Given the description of an element on the screen output the (x, y) to click on. 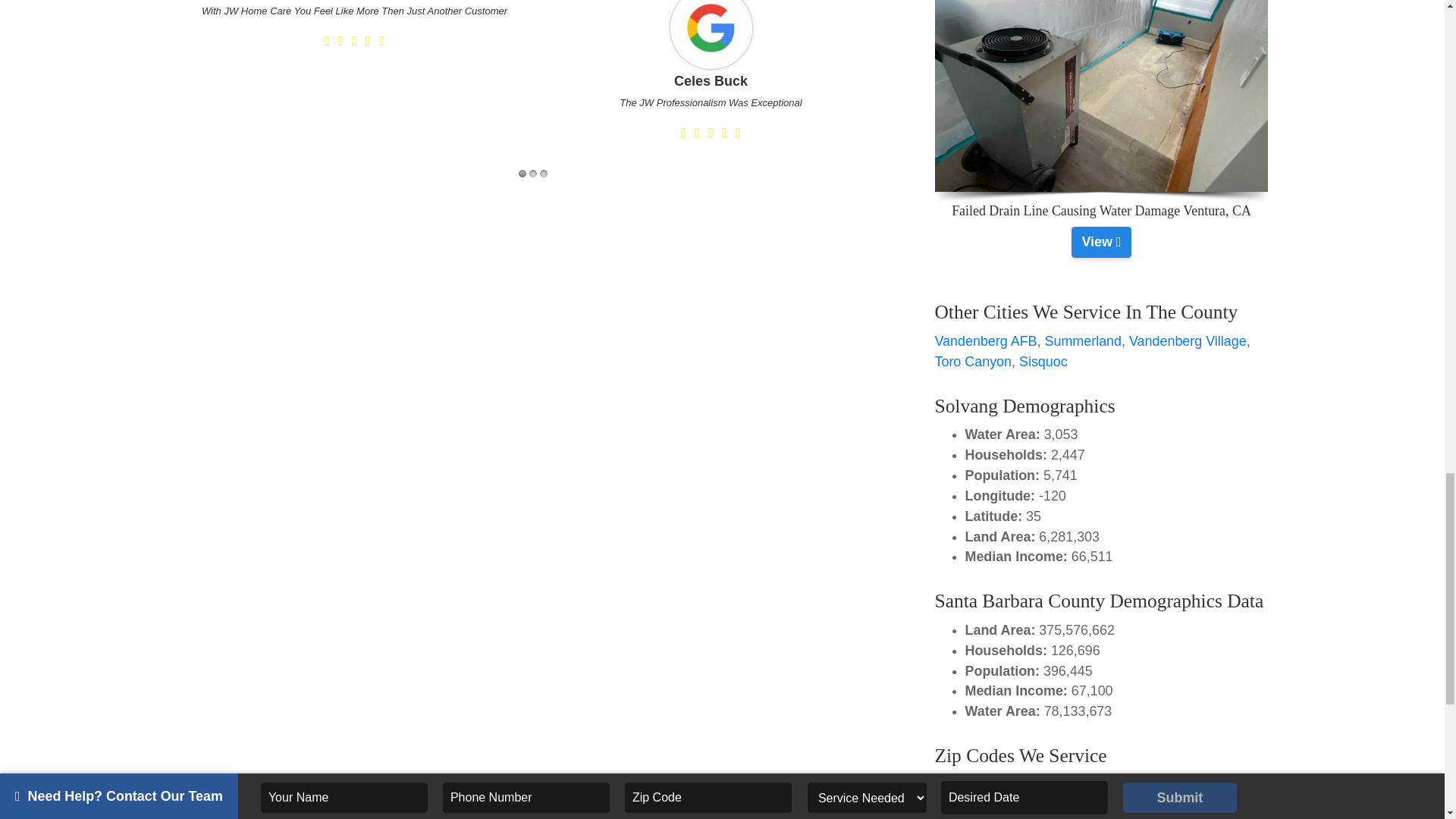
Failed Drain Line Causing Water Damage Ventura, CA (1101, 241)
